Given the description of an element on the screen output the (x, y) to click on. 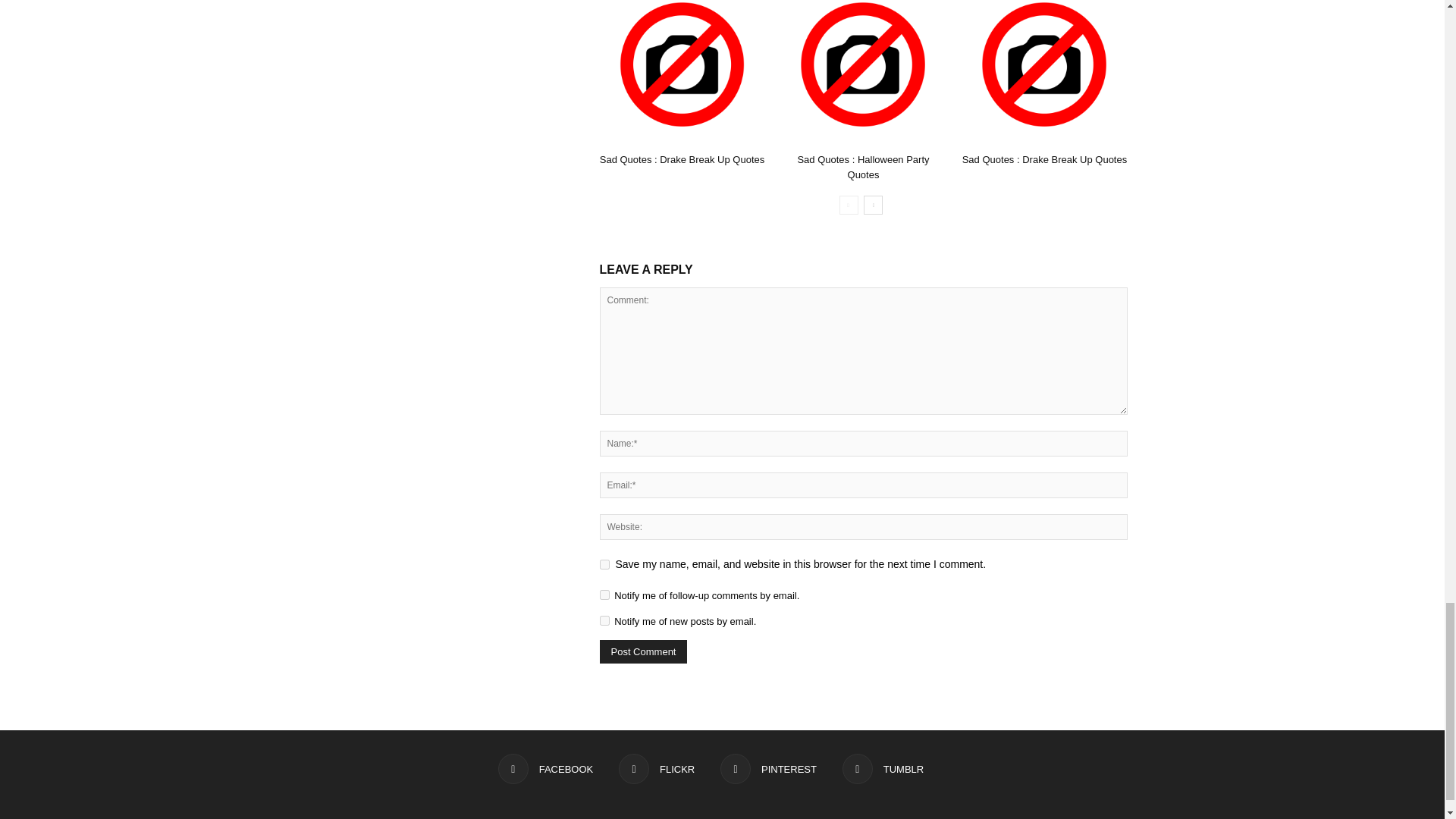
yes (603, 564)
subscribe (603, 620)
subscribe (603, 594)
Post Comment (642, 651)
